Given the description of an element on the screen output the (x, y) to click on. 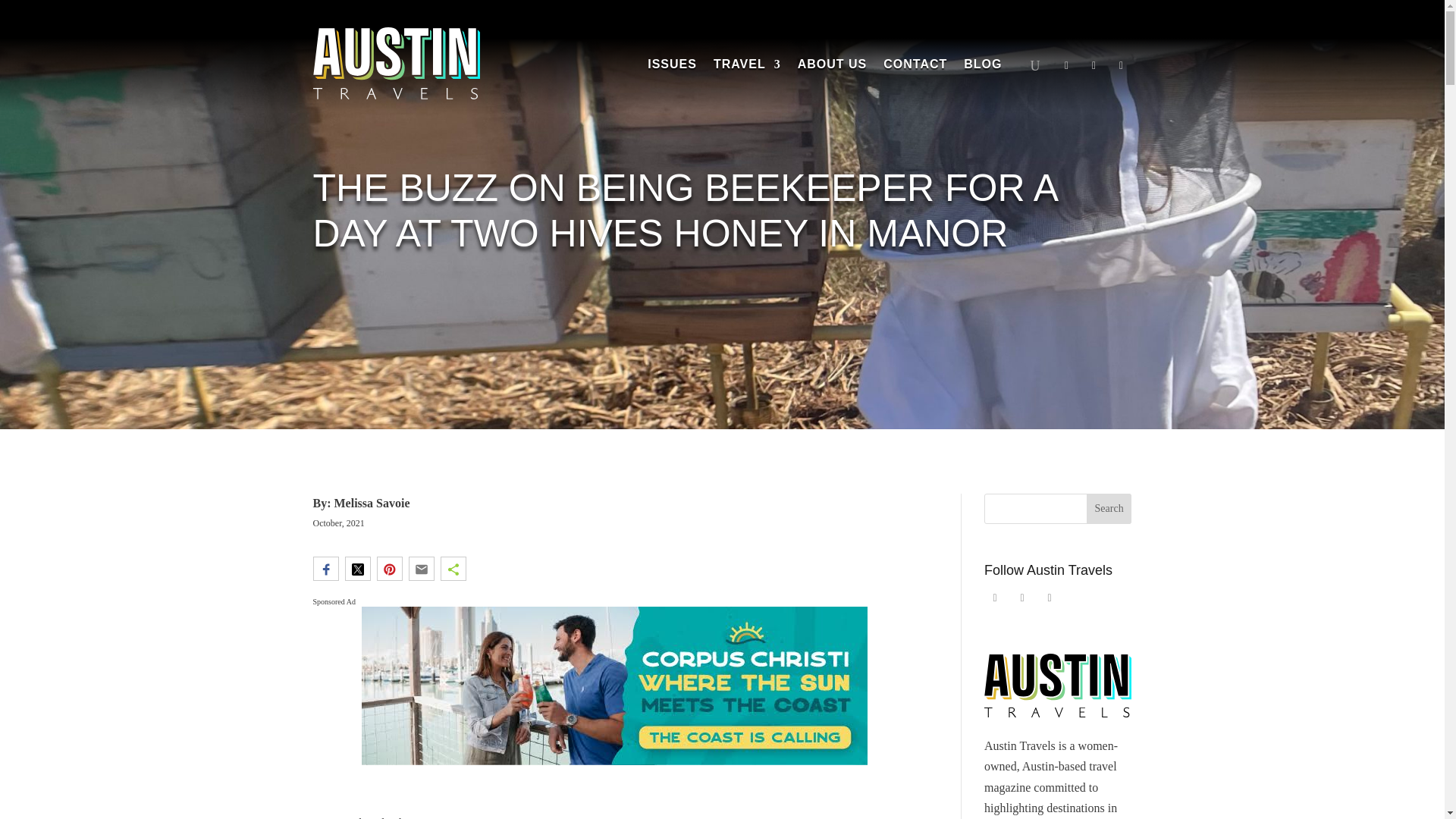
Follow on Facebook (1066, 65)
0-1 (613, 685)
ABOUT US (832, 67)
Follow on Twitter (1021, 598)
Follow on Facebook (995, 598)
TRAVEL (746, 67)
austin-travels-dark (396, 63)
CONTACT (915, 67)
Search (1109, 508)
Follow on X (1093, 65)
0 (156, 685)
Follow on Instagram (1049, 598)
BLOG (982, 67)
Follow on Instagram (1120, 65)
ISSUES (672, 67)
